Given the description of an element on the screen output the (x, y) to click on. 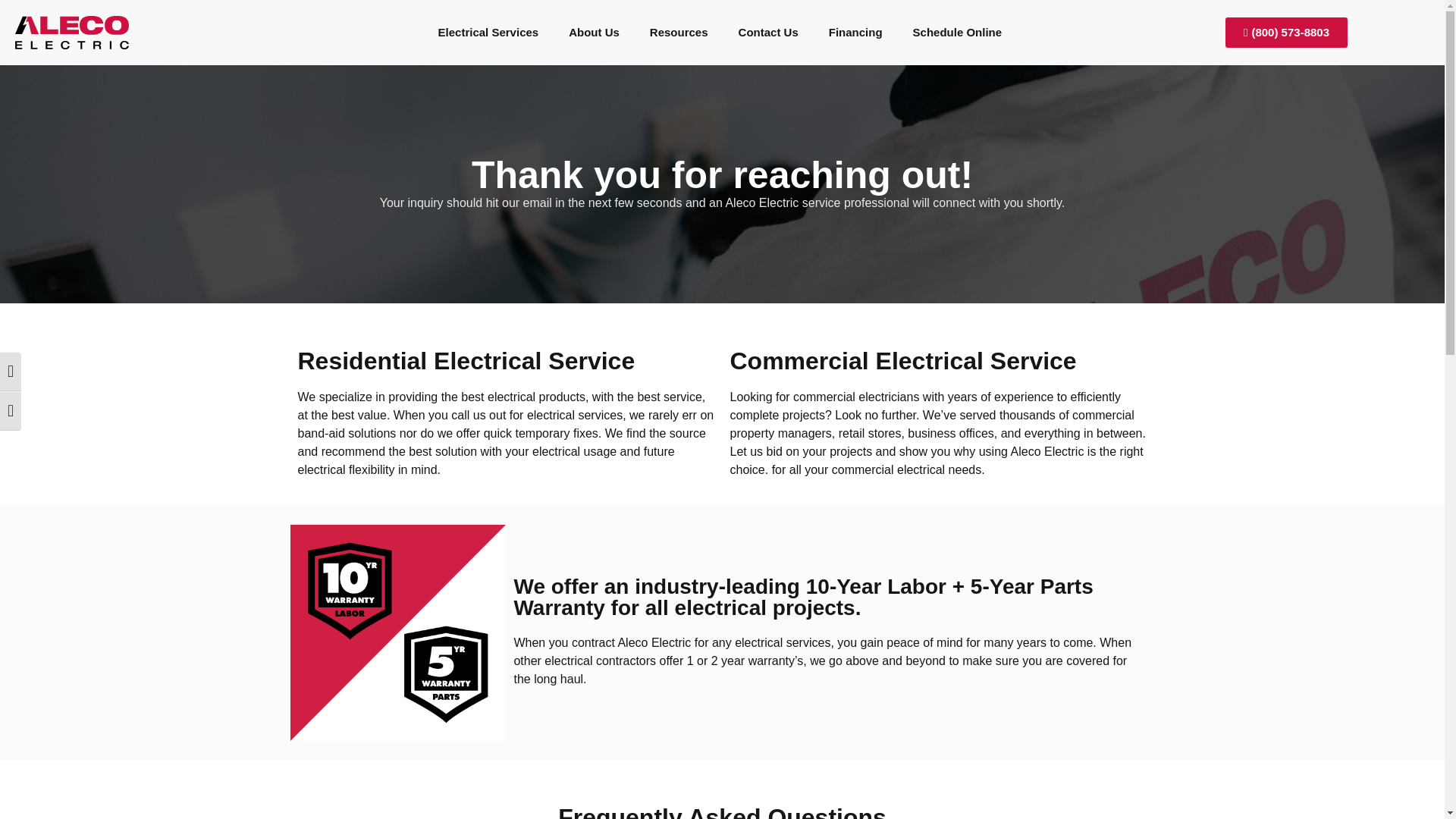
Contact Us (768, 13)
Financing (855, 15)
Resources (678, 13)
Electrical Services (488, 10)
About Us (593, 11)
Schedule Online (957, 15)
